Given the description of an element on the screen output the (x, y) to click on. 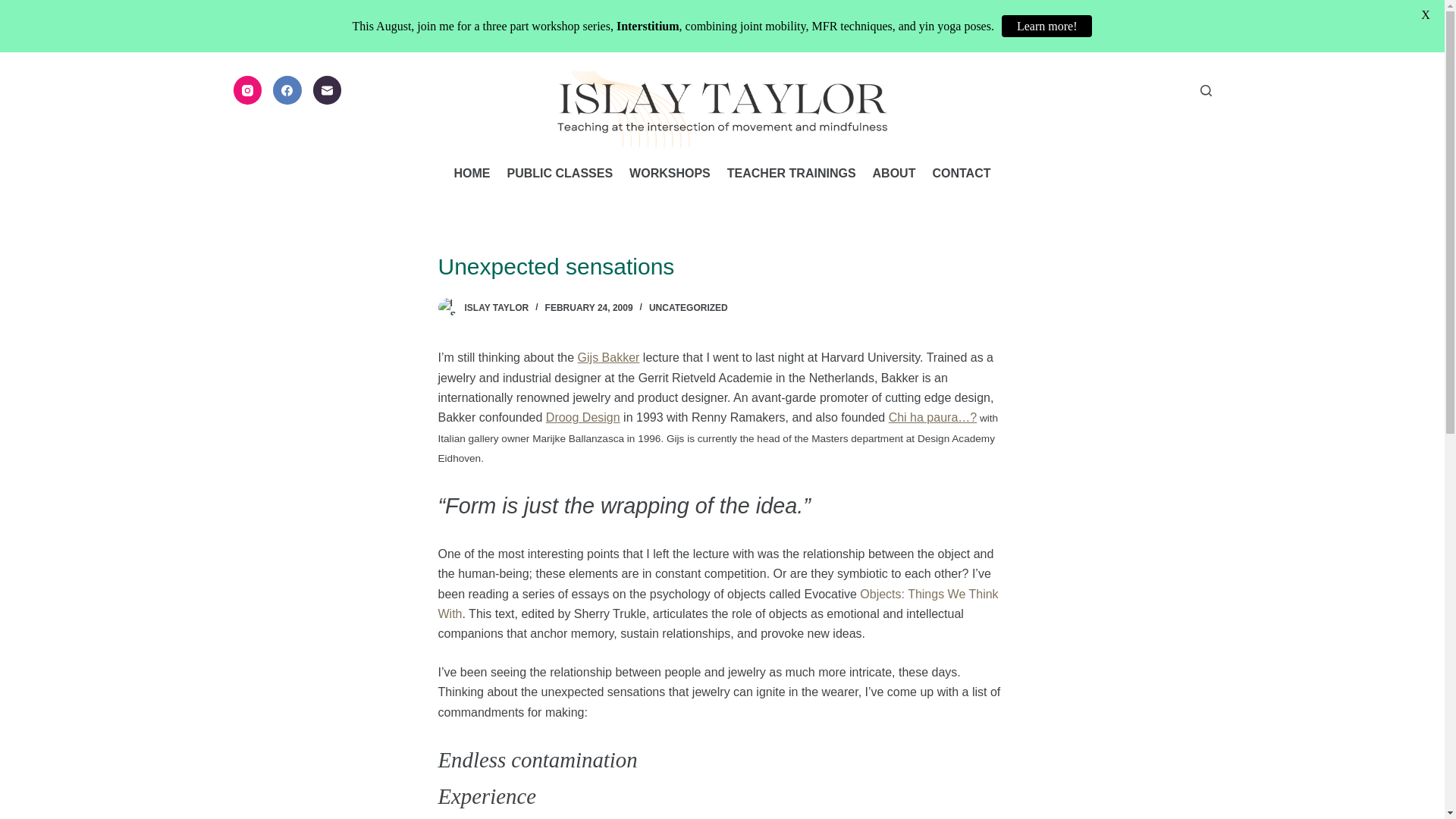
TEACHER TRAININGS (791, 173)
Skip to content (15, 7)
Unexpected sensations (722, 266)
Learn more! (1047, 25)
UNCATEGORIZED (688, 307)
WORKSHOPS (670, 173)
Gijs Bakker (609, 357)
ISLAY TAYLOR (496, 307)
PUBLIC CLASSES (560, 173)
Objects: Things We Think With (718, 603)
Droog Design (583, 417)
Posts by Islay Taylor (496, 307)
